Given the description of an element on the screen output the (x, y) to click on. 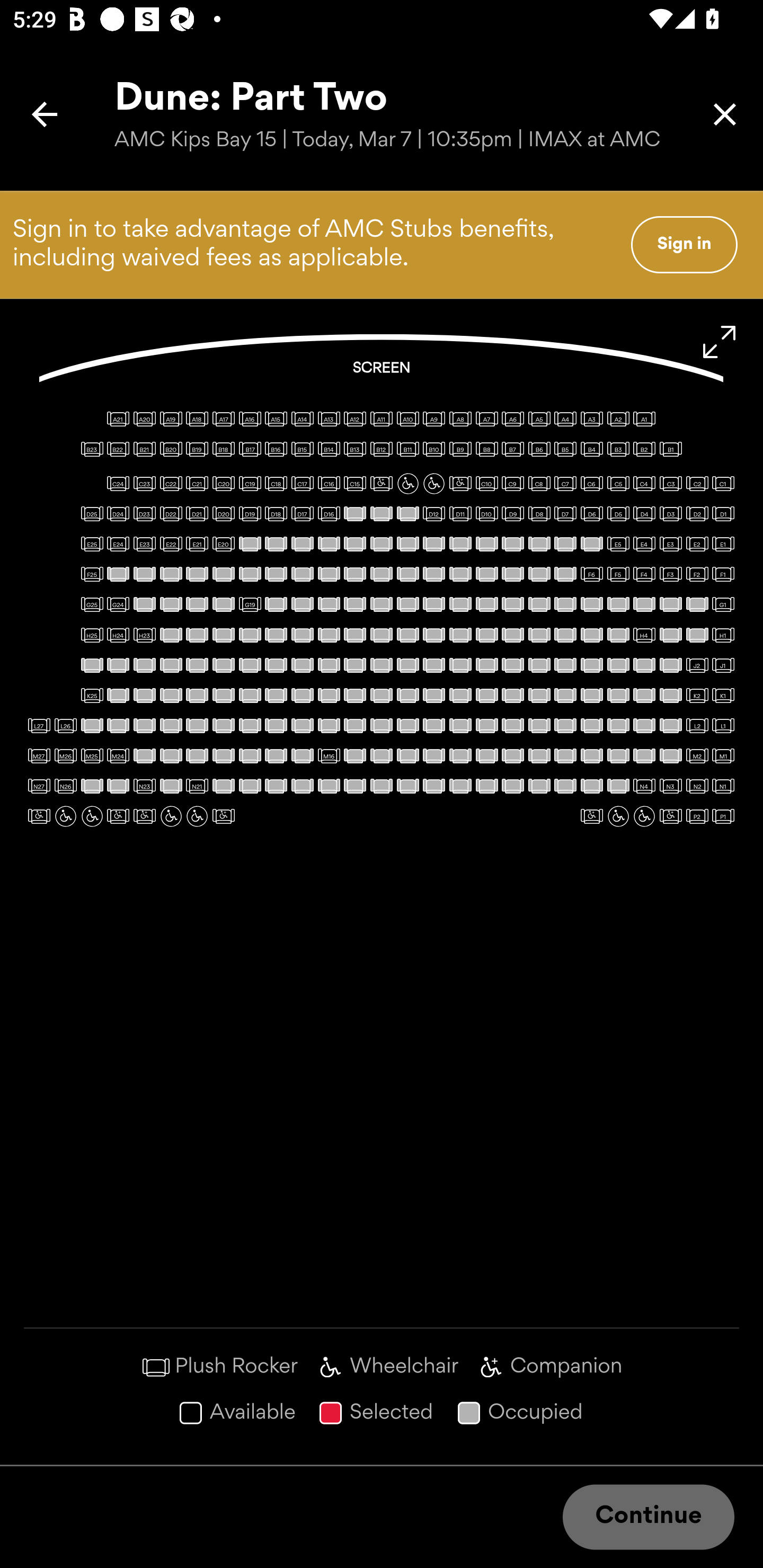
Back (44, 114)
Close (724, 114)
Sign in (684, 244)
Zoom (719, 342)
A21, Regular seat, available (118, 419)
A20, Regular seat, available (144, 419)
A19, Regular seat, available (170, 419)
A18, Regular seat, available (197, 419)
A17, Regular seat, available (223, 419)
A16, Regular seat, available (249, 419)
A15, Regular seat, available (276, 419)
A14, Regular seat, available (302, 419)
A13, Regular seat, available (328, 419)
A12, Regular seat, available (355, 419)
A11, Regular seat, available (381, 419)
A10, Regular seat, available (407, 419)
A9, Regular seat, available (433, 419)
A8, Regular seat, available (460, 419)
A7, Regular seat, available (486, 419)
A6, Regular seat, available (512, 419)
A5, Regular seat, available (539, 419)
A4, Regular seat, available (565, 419)
A3, Regular seat, available (591, 419)
A2, Regular seat, available (618, 419)
A1, Regular seat, available (644, 419)
B23, Regular seat, available (91, 449)
B22, Regular seat, available (118, 449)
B21, Regular seat, available (144, 449)
B20, Regular seat, available (170, 449)
B19, Regular seat, available (197, 449)
B18, Regular seat, available (223, 449)
B17, Regular seat, available (249, 449)
B16, Regular seat, available (276, 449)
B15, Regular seat, available (302, 449)
B14, Regular seat, available (328, 449)
B13, Regular seat, available (355, 449)
B12, Regular seat, available (381, 449)
B11, Regular seat, available (407, 449)
B10, Regular seat, available (433, 449)
B9, Regular seat, available (460, 449)
B8, Regular seat, available (486, 449)
B7, Regular seat, available (512, 449)
B6, Regular seat, available (539, 449)
B5, Regular seat, available (565, 449)
B4, Regular seat, available (591, 449)
B3, Regular seat, available (618, 449)
B2, Regular seat, available (644, 449)
B1, Regular seat, available (670, 449)
C24, Regular seat, available (118, 483)
C23, Regular seat, available (144, 483)
C22, Regular seat, available (170, 483)
C21, Regular seat, available (197, 483)
C20, Regular seat, available (223, 483)
C19, Regular seat, available (249, 483)
C18, Regular seat, available (276, 483)
C17, Regular seat, available (302, 483)
C16, Regular seat, available (328, 483)
C15, Regular seat, available (355, 483)
C14, Wheelchair companion seat, available (381, 483)
C13, Wheelchair space, available (407, 483)
C12, Wheelchair space, available (433, 483)
C11, Wheelchair companion seat, available (460, 483)
C10, Regular seat, available (486, 483)
C9, Regular seat, available (512, 483)
C8, Regular seat, available (539, 483)
C7, Regular seat, available (565, 483)
C6, Regular seat, available (591, 483)
C5, Regular seat, available (618, 483)
C4, Regular seat, available (644, 483)
C3, Regular seat, available (670, 483)
C2, Regular seat, available (697, 483)
C1, Regular seat, available (723, 483)
D25, Regular seat, available (91, 513)
D24, Regular seat, available (118, 513)
D23, Regular seat, available (144, 513)
D22, Regular seat, available (170, 513)
D21, Regular seat, available (197, 513)
D20, Regular seat, available (223, 513)
D19, Regular seat, available (249, 513)
D18, Regular seat, available (276, 513)
D17, Regular seat, available (302, 513)
D16, Regular seat, available (328, 513)
D12, Regular seat, available (433, 513)
D11, Regular seat, available (460, 513)
D10, Regular seat, available (486, 513)
D9, Regular seat, available (512, 513)
D8, Regular seat, available (539, 513)
D7, Regular seat, available (565, 513)
D6, Regular seat, available (591, 513)
D5, Regular seat, available (618, 513)
D4, Regular seat, available (644, 513)
D3, Regular seat, available (670, 513)
D2, Regular seat, available (697, 513)
D1, Regular seat, available (723, 513)
E25, Regular seat, available (91, 543)
E24, Regular seat, available (118, 543)
E23, Regular seat, available (144, 543)
E22, Regular seat, available (170, 543)
E21, Regular seat, available (197, 543)
E20, Regular seat, available (223, 543)
E5, Regular seat, available (618, 543)
E4, Regular seat, available (644, 543)
E3, Regular seat, available (670, 543)
E2, Regular seat, available (697, 543)
E1, Regular seat, available (723, 543)
F25, Regular seat, available (91, 574)
F6, Regular seat, available (591, 574)
F5, Regular seat, available (618, 574)
F4, Regular seat, available (644, 574)
F3, Regular seat, available (670, 574)
F2, Regular seat, available (697, 574)
F1, Regular seat, available (723, 574)
G25, Regular seat, available (91, 604)
G24, Regular seat, available (118, 604)
G19, Regular seat, available (249, 604)
G1, Regular seat, available (723, 604)
H25, Regular seat, available (91, 634)
H24, Regular seat, available (118, 634)
H23, Regular seat, available (144, 634)
H4, Regular seat, available (644, 634)
H1, Regular seat, available (723, 634)
J2, Regular seat, available (697, 665)
J1, Regular seat, available (723, 665)
K25, Regular seat, available (91, 695)
K2, Regular seat, available (697, 695)
K1, Regular seat, available (723, 695)
L27, Regular seat, available (39, 725)
L26, Regular seat, available (65, 725)
L2, Regular seat, available (697, 725)
L1, Regular seat, available (723, 725)
M27, Regular seat, available (39, 755)
M26, Regular seat, available (65, 755)
M25, Regular seat, available (91, 755)
M24, Regular seat, available (118, 755)
M16, Regular seat, available (328, 755)
M2, Regular seat, available (697, 755)
M1, Regular seat, available (723, 755)
N27, Regular seat, available (39, 786)
N26, Regular seat, available (65, 786)
N23, Regular seat, available (144, 786)
N21, Regular seat, available (197, 786)
N4, Regular seat, available (644, 786)
N3, Regular seat, available (670, 786)
N2, Regular seat, available (697, 786)
N1, Regular seat, available (723, 786)
P14, Wheelchair companion seat, available (39, 816)
P13, Wheelchair space, available (65, 816)
P12, Wheelchair space, available (91, 816)
P11, Wheelchair companion seat, available (118, 816)
P10, Wheelchair companion seat, available (144, 816)
P9, Wheelchair space, available (170, 816)
P8, Wheelchair space, available (197, 816)
P7, Wheelchair companion seat, available (223, 816)
P6, Wheelchair companion seat, available (591, 816)
P5, Wheelchair space, available (618, 816)
P4, Wheelchair space, available (644, 816)
P3, Wheelchair companion seat, available (670, 816)
P2, Regular seat, available (697, 816)
P1, Regular seat, available (723, 816)
